Given the description of an element on the screen output the (x, y) to click on. 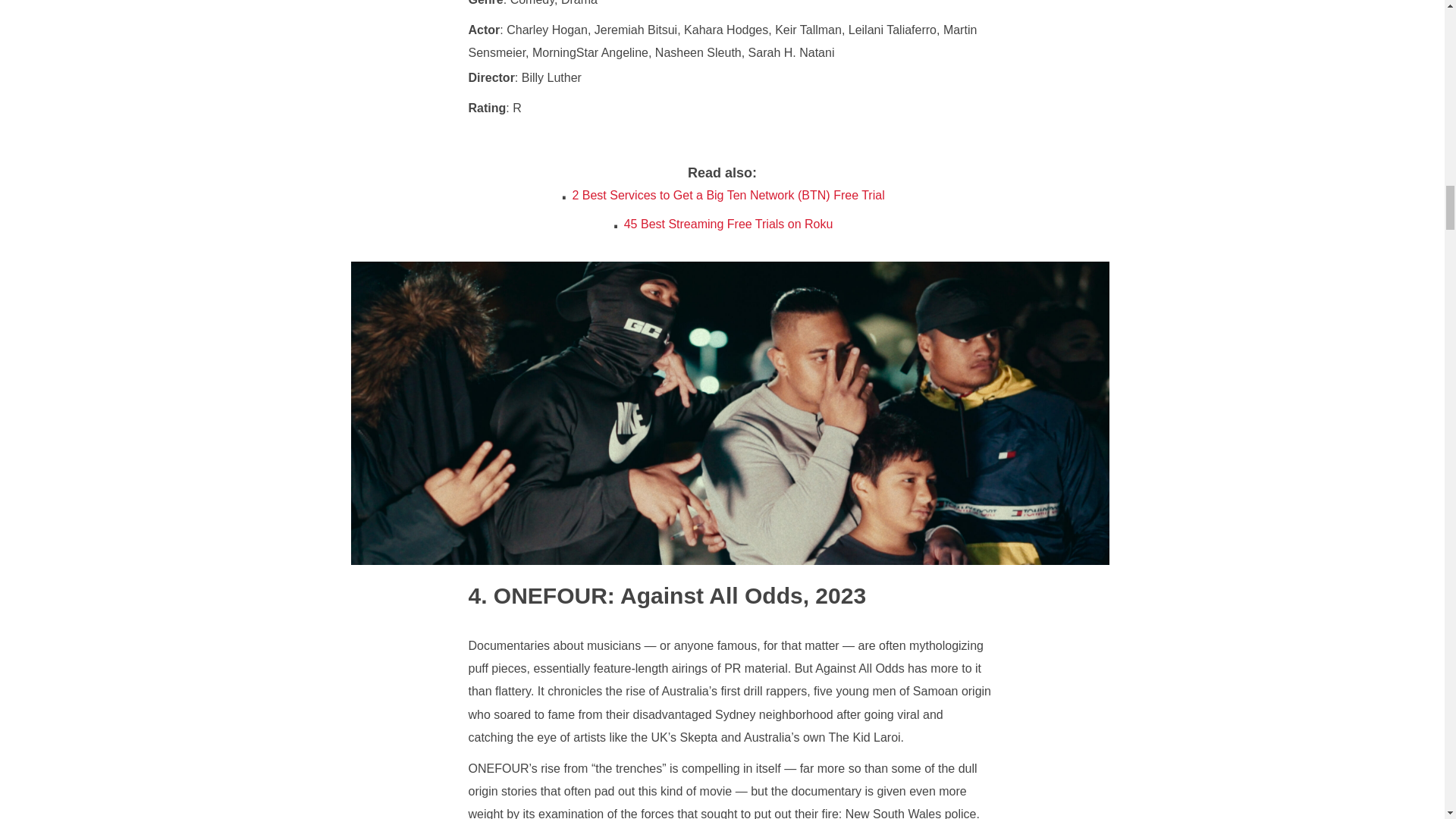
ONEFOUR: Against All Odds (635, 595)
